Given the description of an element on the screen output the (x, y) to click on. 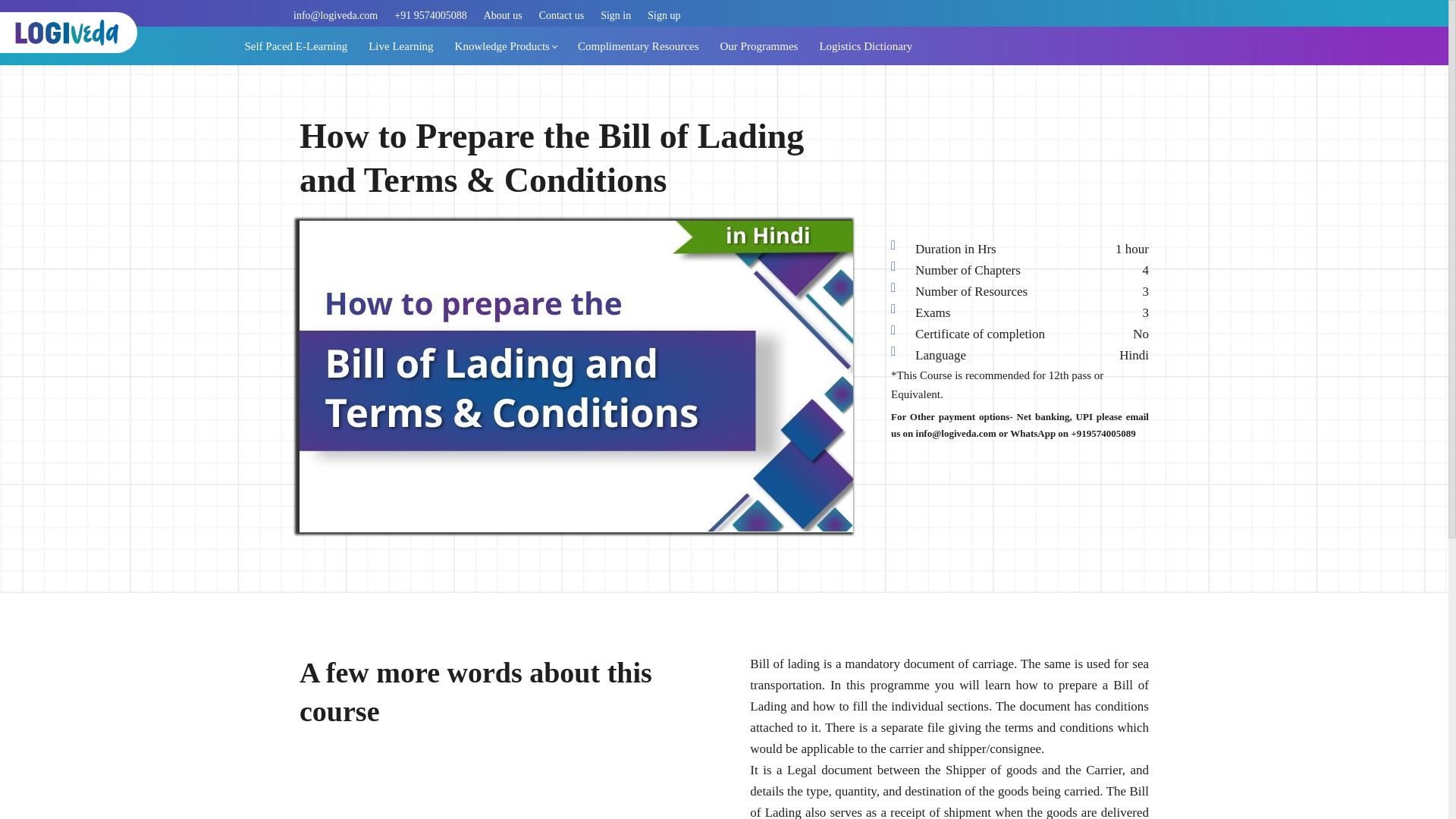
Self Paced E-Learning (295, 46)
About us (502, 15)
Contact us (561, 15)
Complimentary Resources (638, 46)
Sign in (614, 15)
Live Learning (400, 46)
Sign up (663, 15)
Logistics Dictionary (865, 46)
Our Programmes (758, 46)
